Given the description of an element on the screen output the (x, y) to click on. 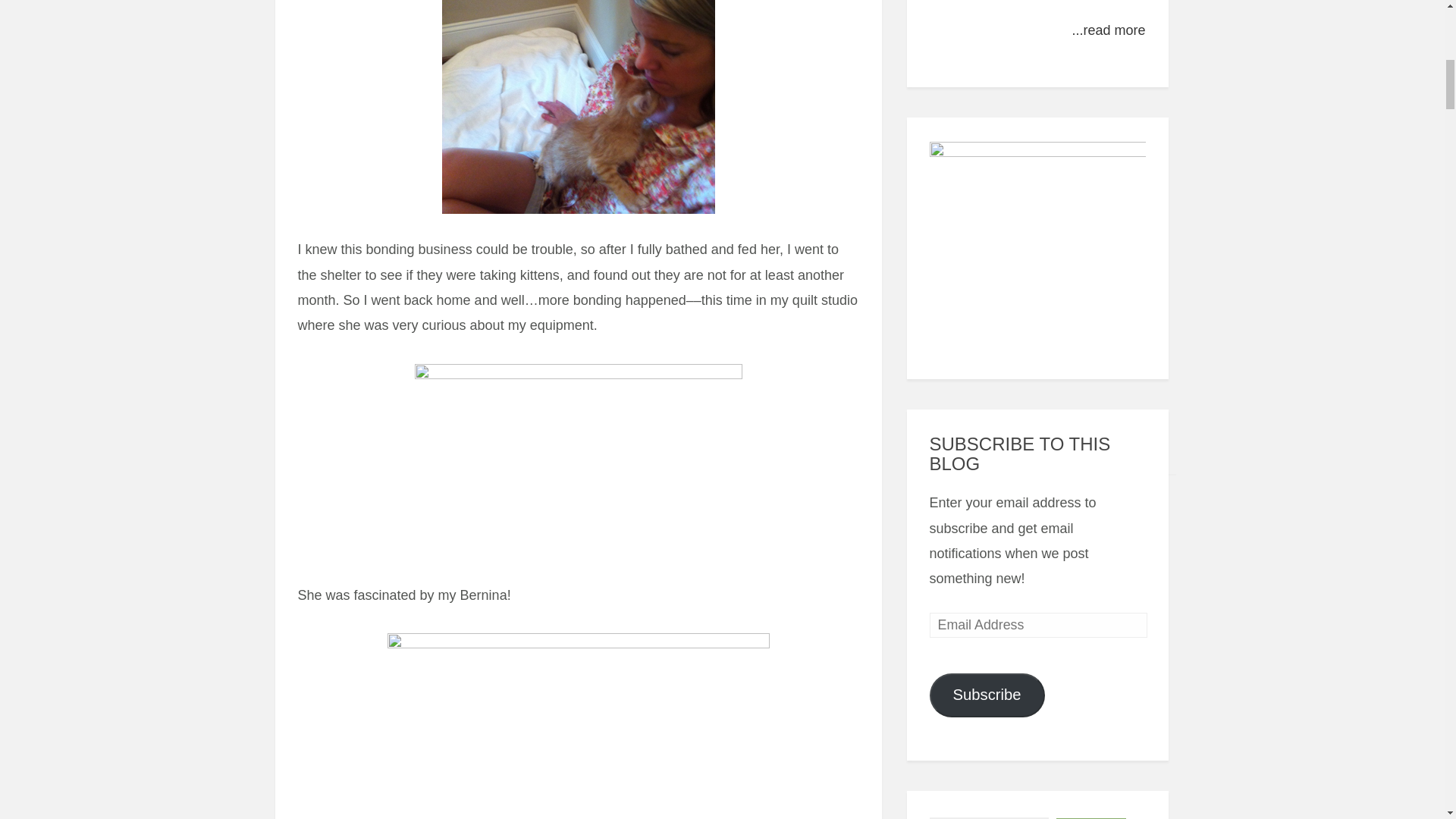
Bernina (577, 471)
Fostering (577, 108)
thermofax machine (577, 723)
Search (1091, 818)
